Given the description of an element on the screen output the (x, y) to click on. 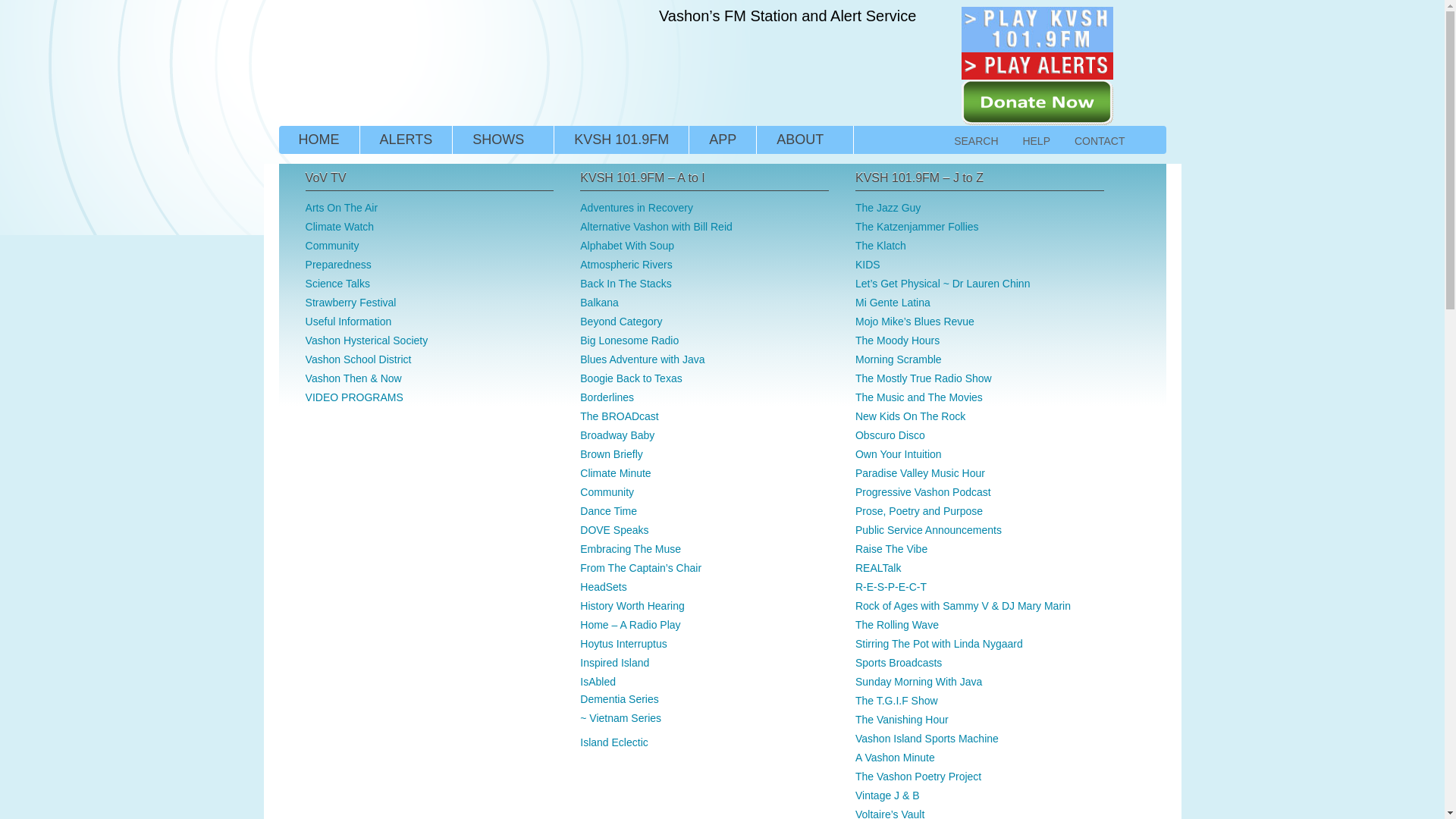
Atmospheric Rivers (625, 264)
Community (606, 491)
The BROADcast (618, 416)
SHOWS (502, 139)
Voice Of Vashon (422, 61)
ALERTS (405, 139)
Brown Briefly (610, 453)
Vashon School District (358, 358)
KVSH 101.9FM (621, 139)
Alphabet With Soup (626, 245)
